Given the description of an element on the screen output the (x, y) to click on. 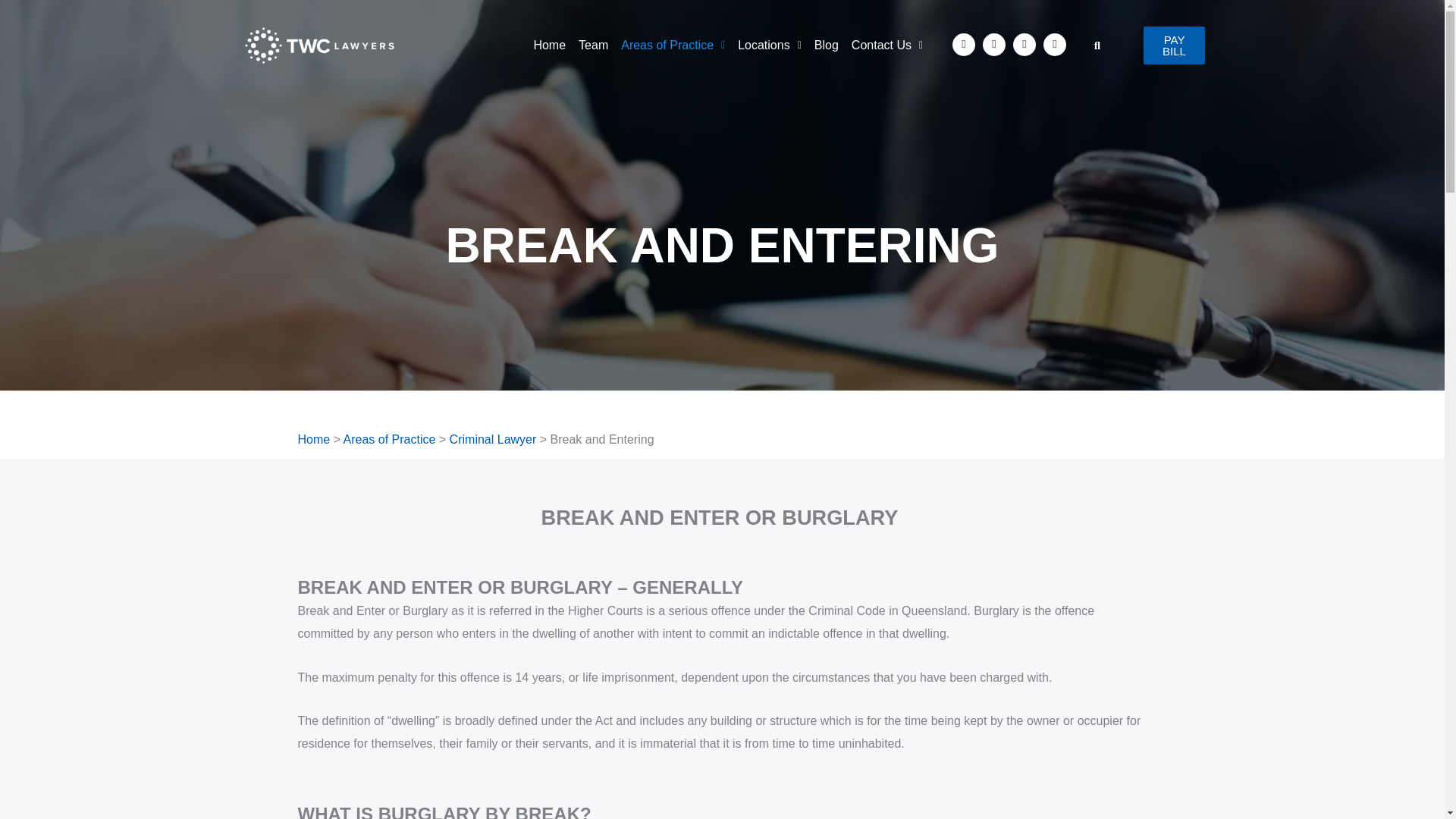
Areas of Practice (672, 45)
Search (1091, 45)
Team (592, 45)
Home (548, 45)
